Given the description of an element on the screen output the (x, y) to click on. 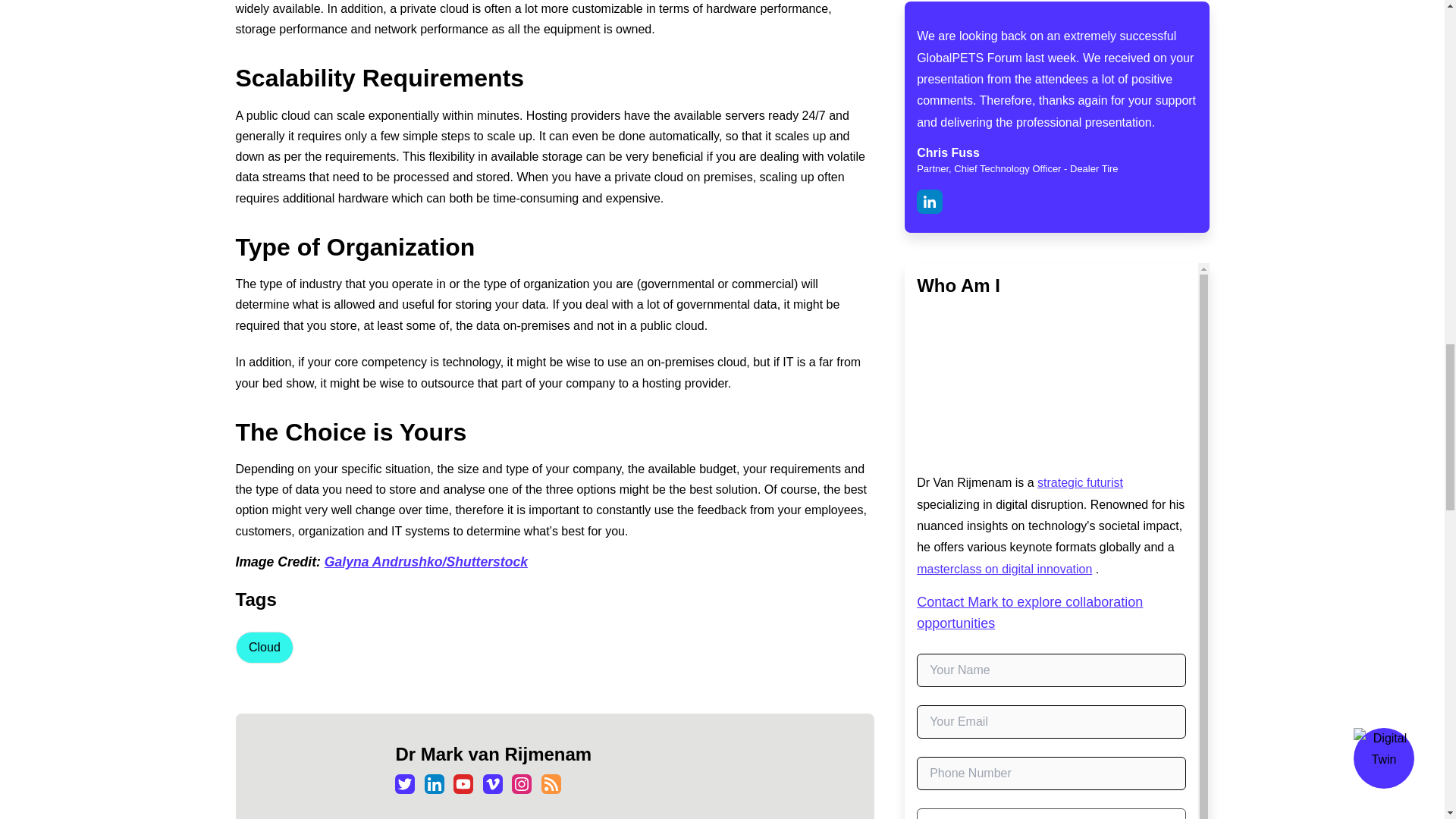
RSS (550, 783)
Instagram (521, 783)
Youtube (462, 783)
Cloud (263, 647)
Twitter (404, 783)
Vimeo (492, 783)
Linkedin (434, 783)
